Given the description of an element on the screen output the (x, y) to click on. 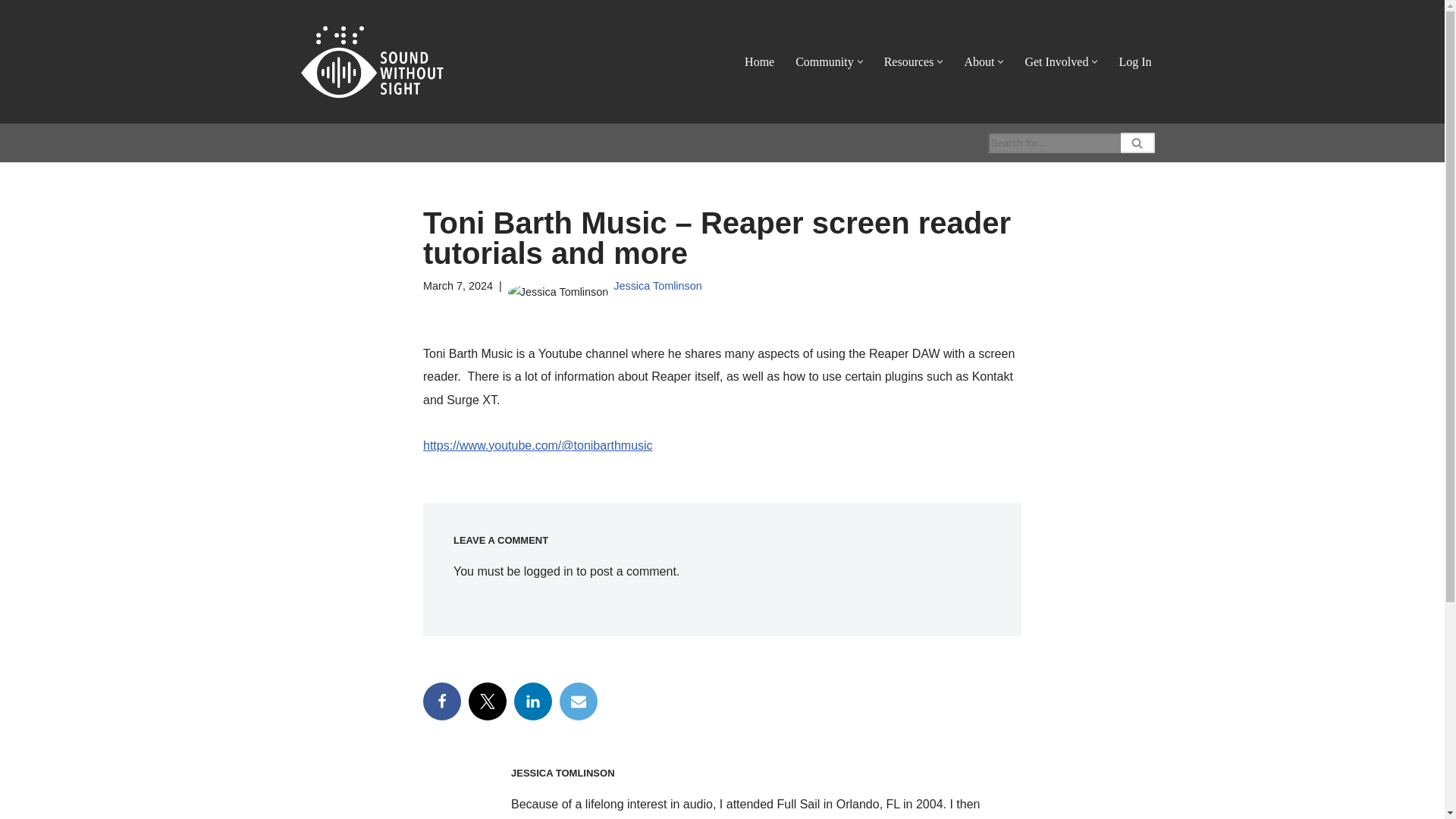
Skip to content (11, 31)
About (978, 61)
Home (759, 61)
Log In (1134, 61)
Resources (908, 61)
Posts by Jessica Tomlinson (656, 285)
Email (577, 701)
Community (823, 61)
Get Involved (1056, 61)
LinkedIn (532, 701)
